Given the description of an element on the screen output the (x, y) to click on. 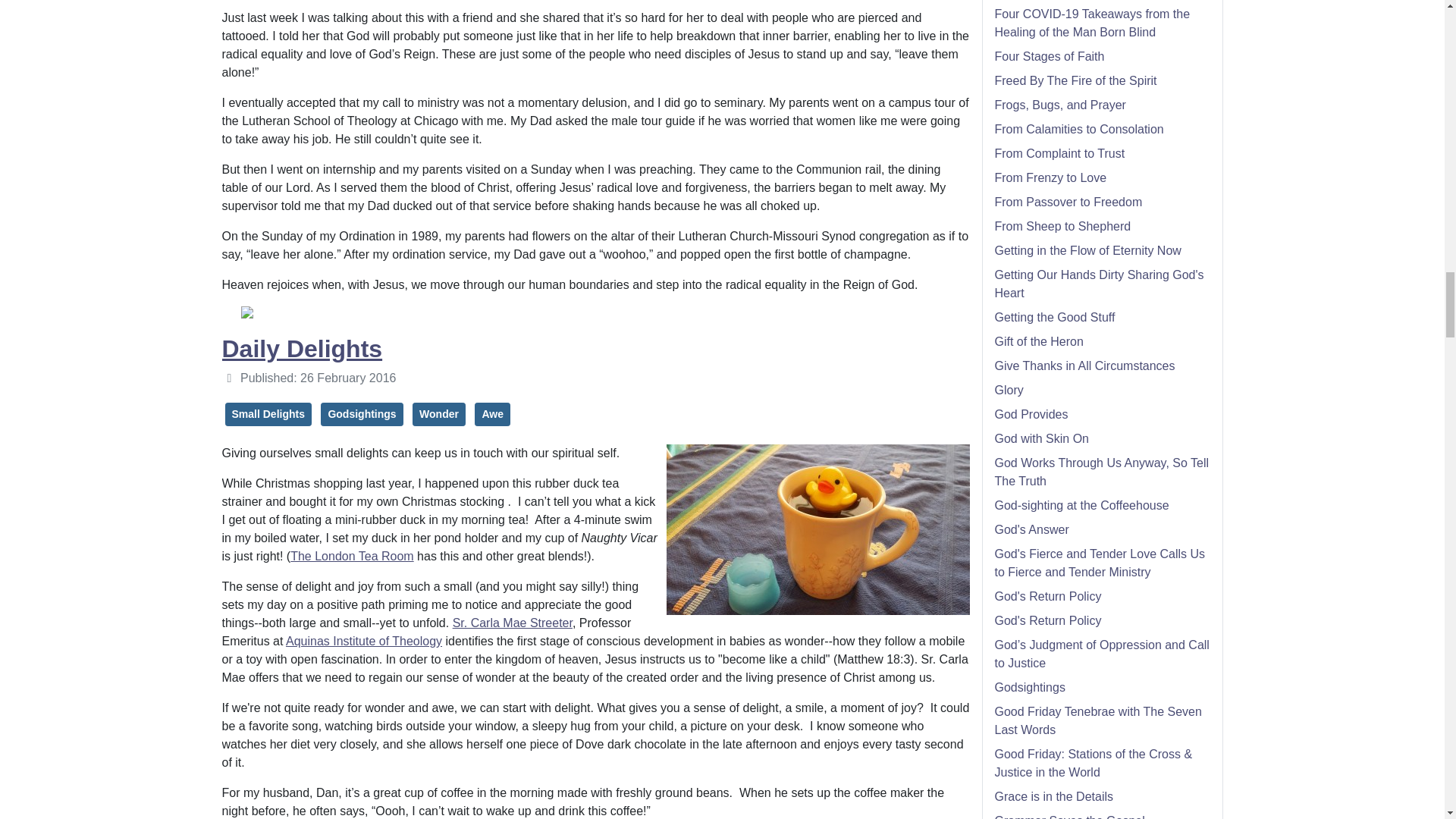
Small Delights (267, 413)
Wonder (438, 413)
Awe (492, 413)
Daily Delights (301, 348)
Aquinas Institute of Theology (363, 640)
The London Tea Room (351, 555)
Godsightings (361, 413)
Sr. Carla Mae Streeter (512, 622)
